Given the description of an element on the screen output the (x, y) to click on. 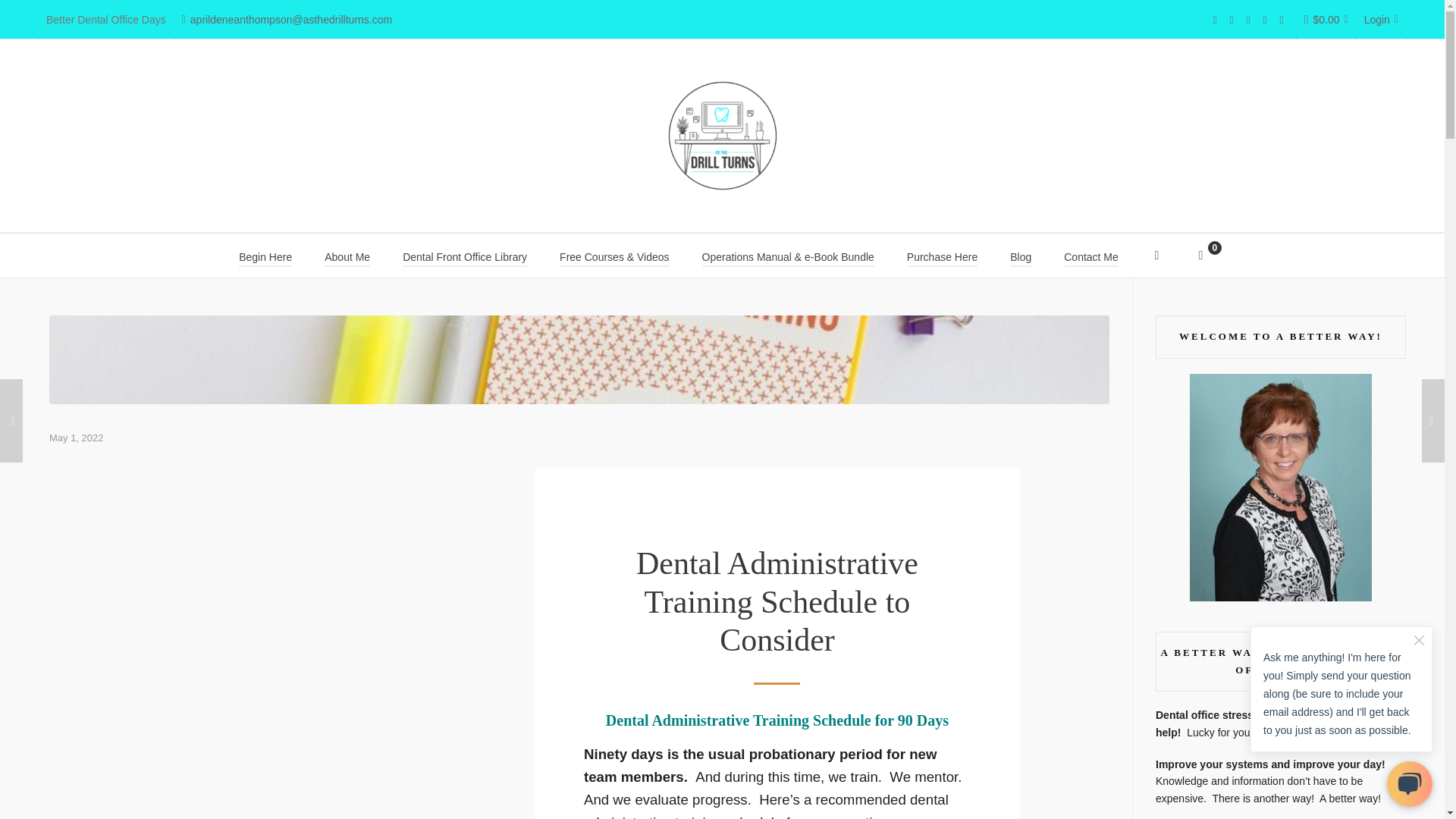
Begin Here (265, 255)
About Me (347, 255)
Dental Front Office Library (464, 255)
